Given the description of an element on the screen output the (x, y) to click on. 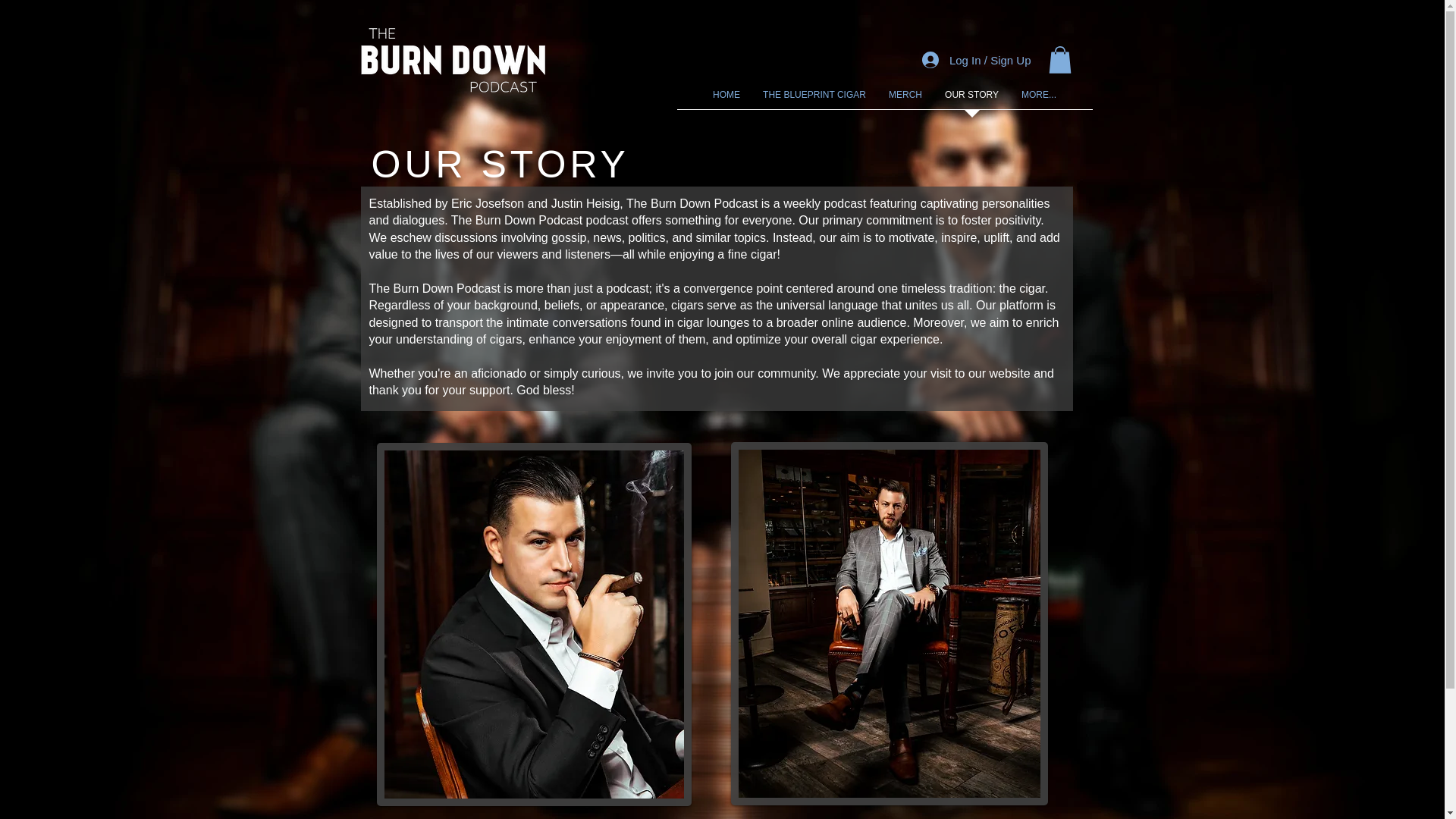
OUR STORY (971, 99)
HOME (726, 99)
MERCH (905, 99)
THE BLUEPRINT CIGAR (814, 99)
